Given the description of an element on the screen output the (x, y) to click on. 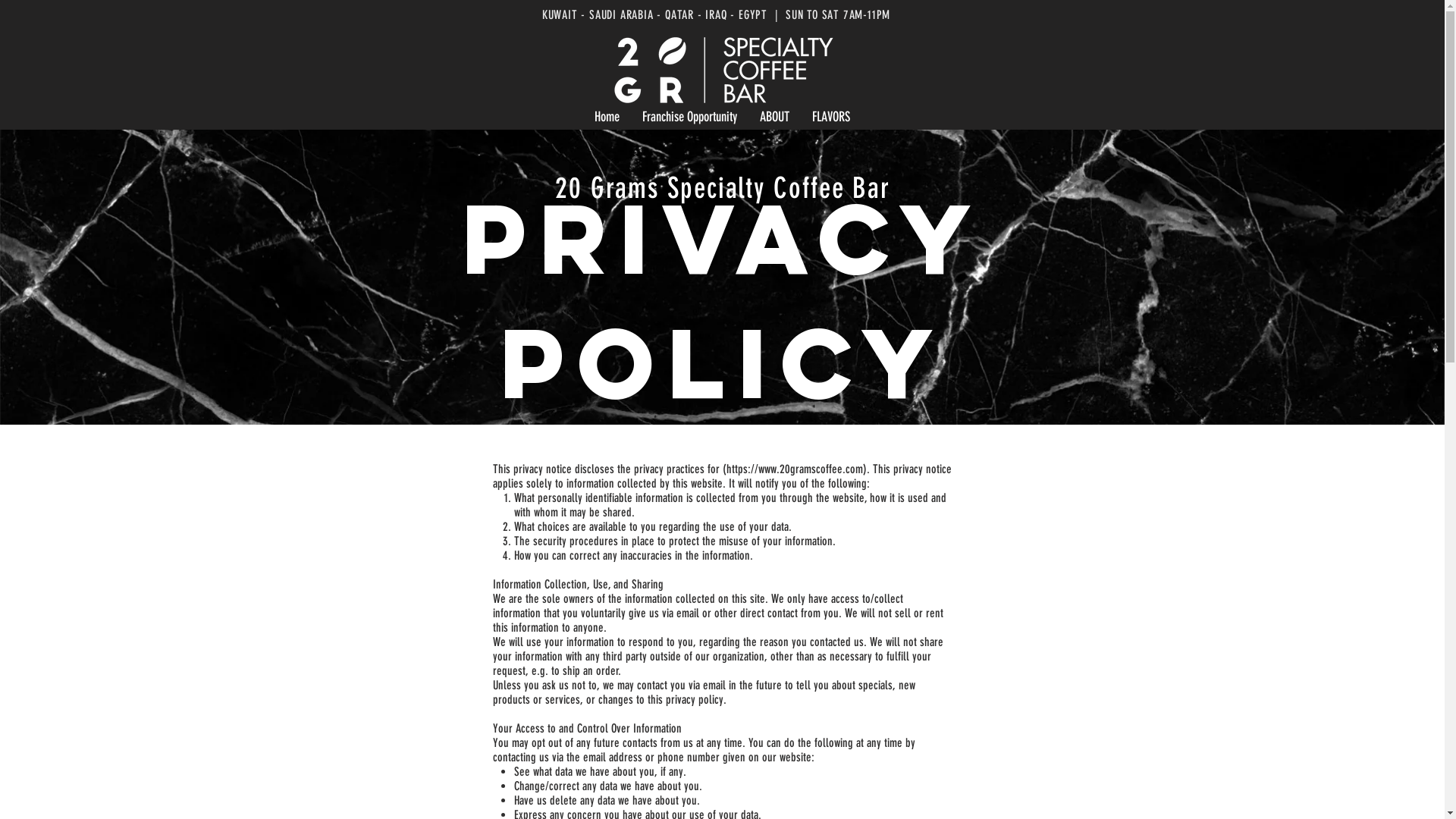
Restaurant Social Bar Element type: hover (1363, 26)
Franchise Opportunity Element type: text (689, 116)
ABOUT Element type: text (774, 116)
https://www.20gramscoffee.com Element type: text (794, 468)
Home Element type: text (606, 116)
FLAVORS Element type: text (830, 116)
